Given the description of an element on the screen output the (x, y) to click on. 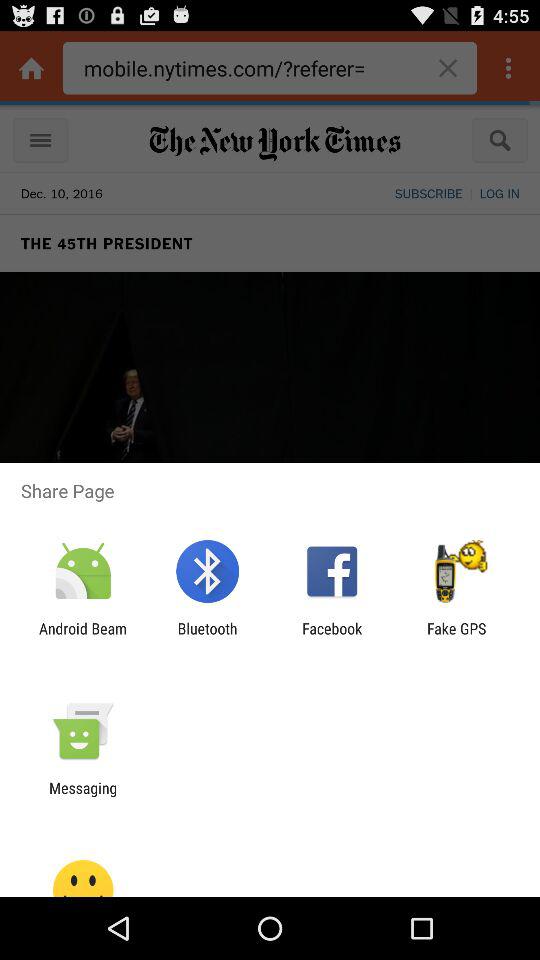
select item to the left of the facebook (207, 637)
